Given the description of an element on the screen output the (x, y) to click on. 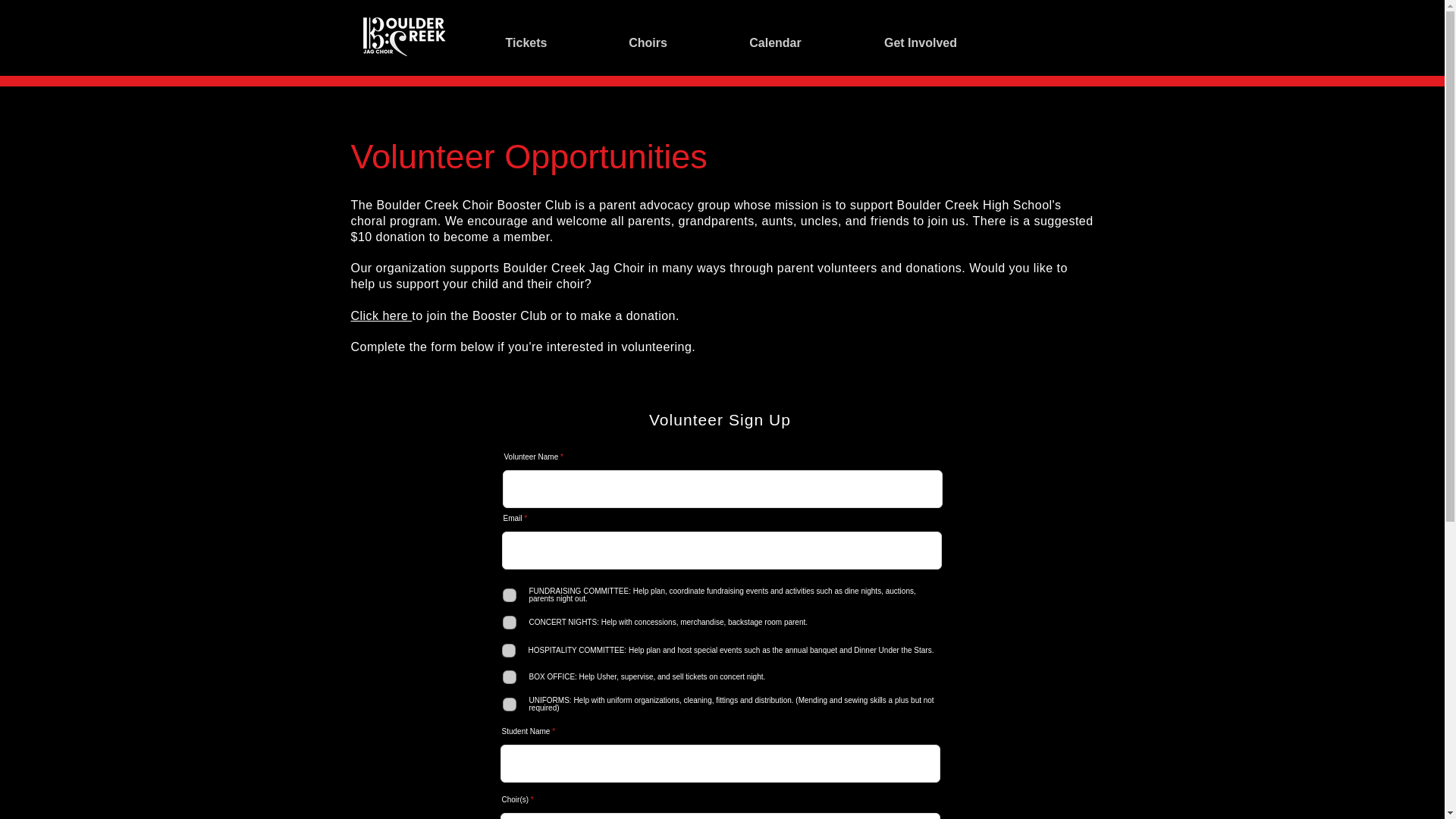
Click here  (381, 315)
Calendar (775, 42)
